Given the description of an element on the screen output the (x, y) to click on. 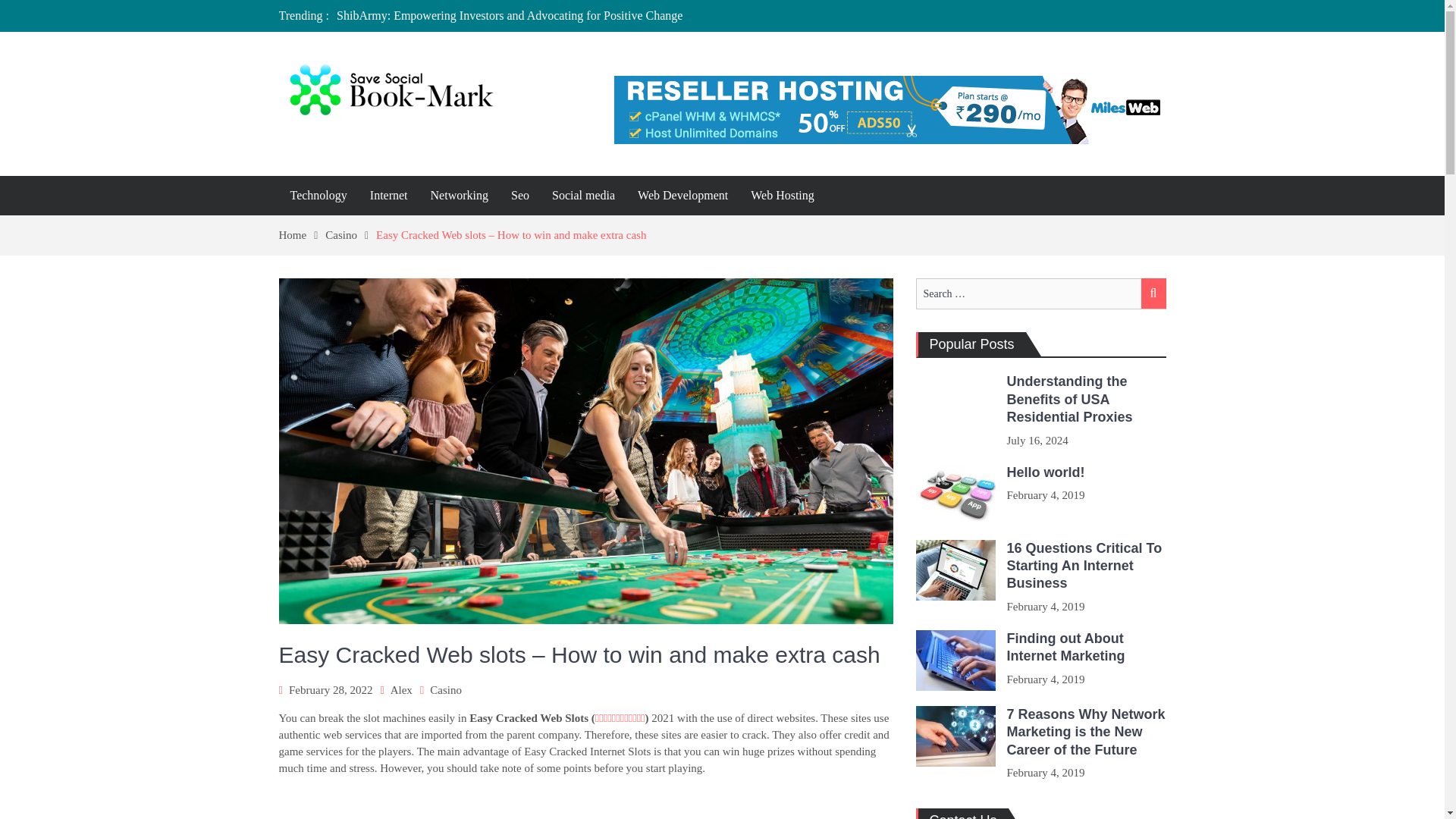
February 28, 2022 (330, 689)
Alex (401, 689)
Understanding the Benefits of USA Residential Proxies (1069, 399)
Internet (388, 195)
Web Hosting (782, 195)
Networking (459, 195)
Technology (318, 195)
Home (302, 234)
Web Development (682, 195)
Social media (583, 195)
Seo (519, 195)
Casino (349, 234)
Casino (445, 689)
